Given the description of an element on the screen output the (x, y) to click on. 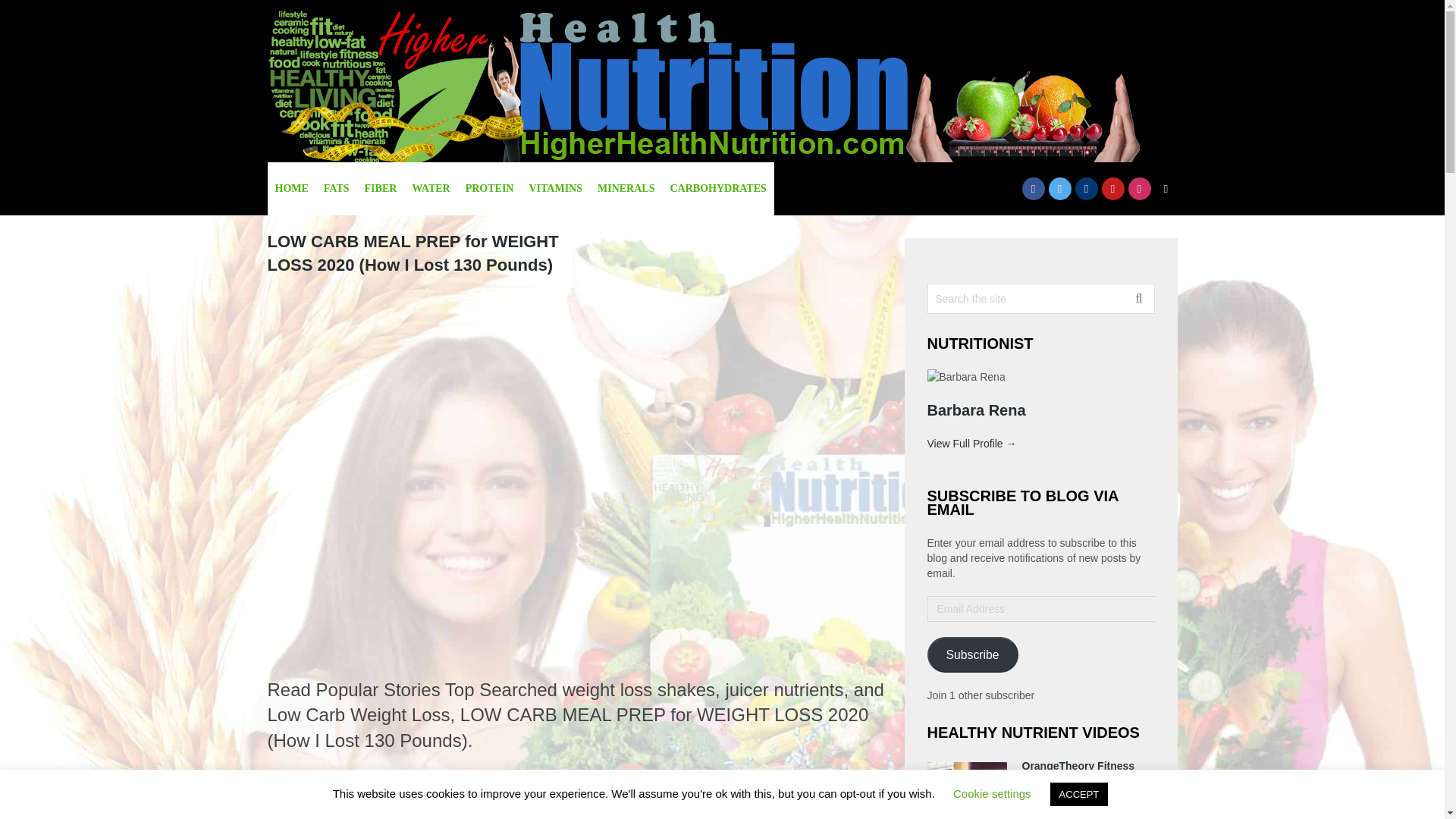
CARBOHYDRATES (717, 188)
FATS (335, 188)
No posts found. (575, 800)
HOME (290, 188)
FIBER (380, 188)
VITAMINS (555, 188)
WATER (430, 188)
PROTEIN (489, 188)
MINERALS (625, 188)
